Given the description of an element on the screen output the (x, y) to click on. 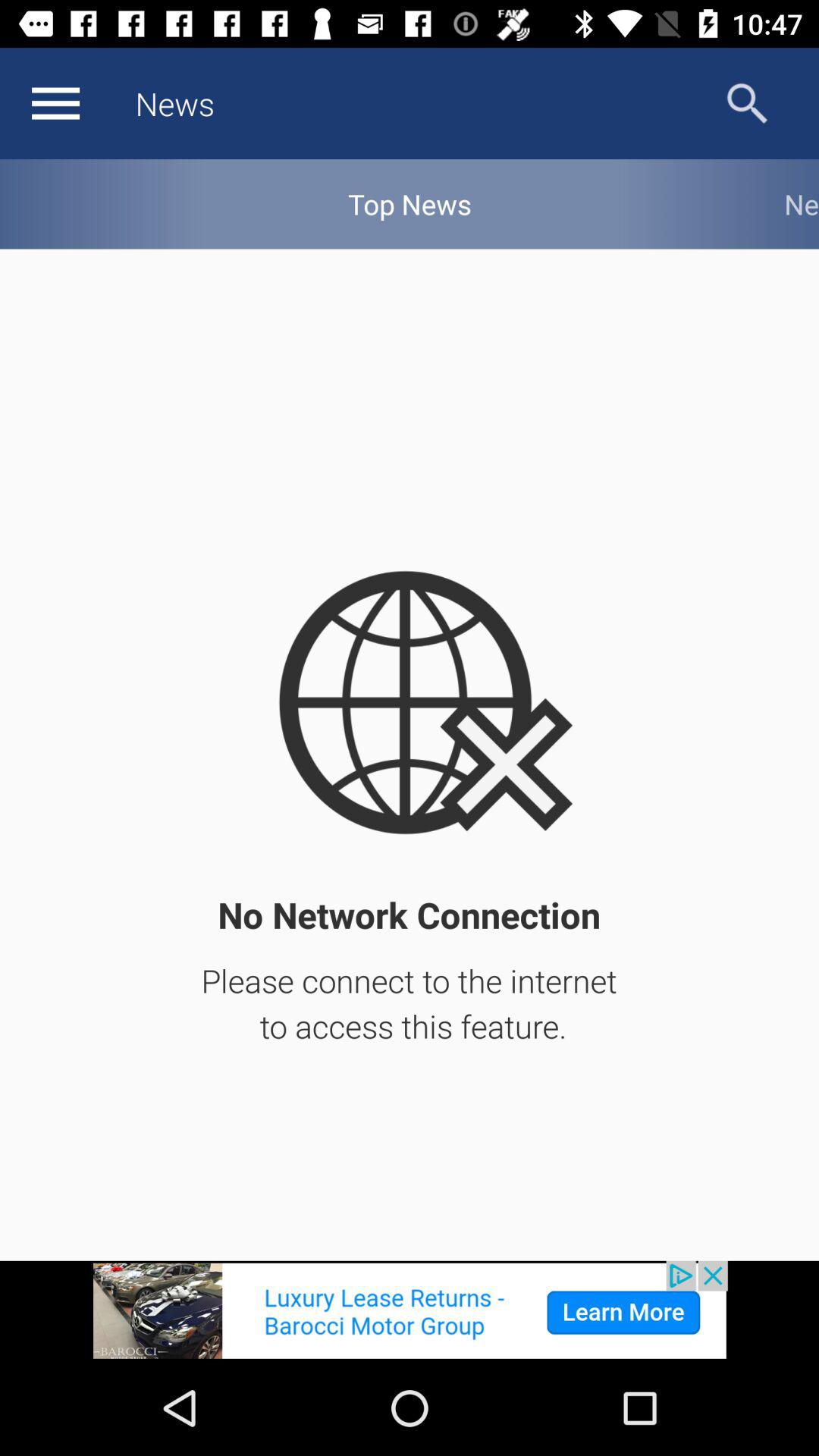
go to menu (55, 103)
